Given the description of an element on the screen output the (x, y) to click on. 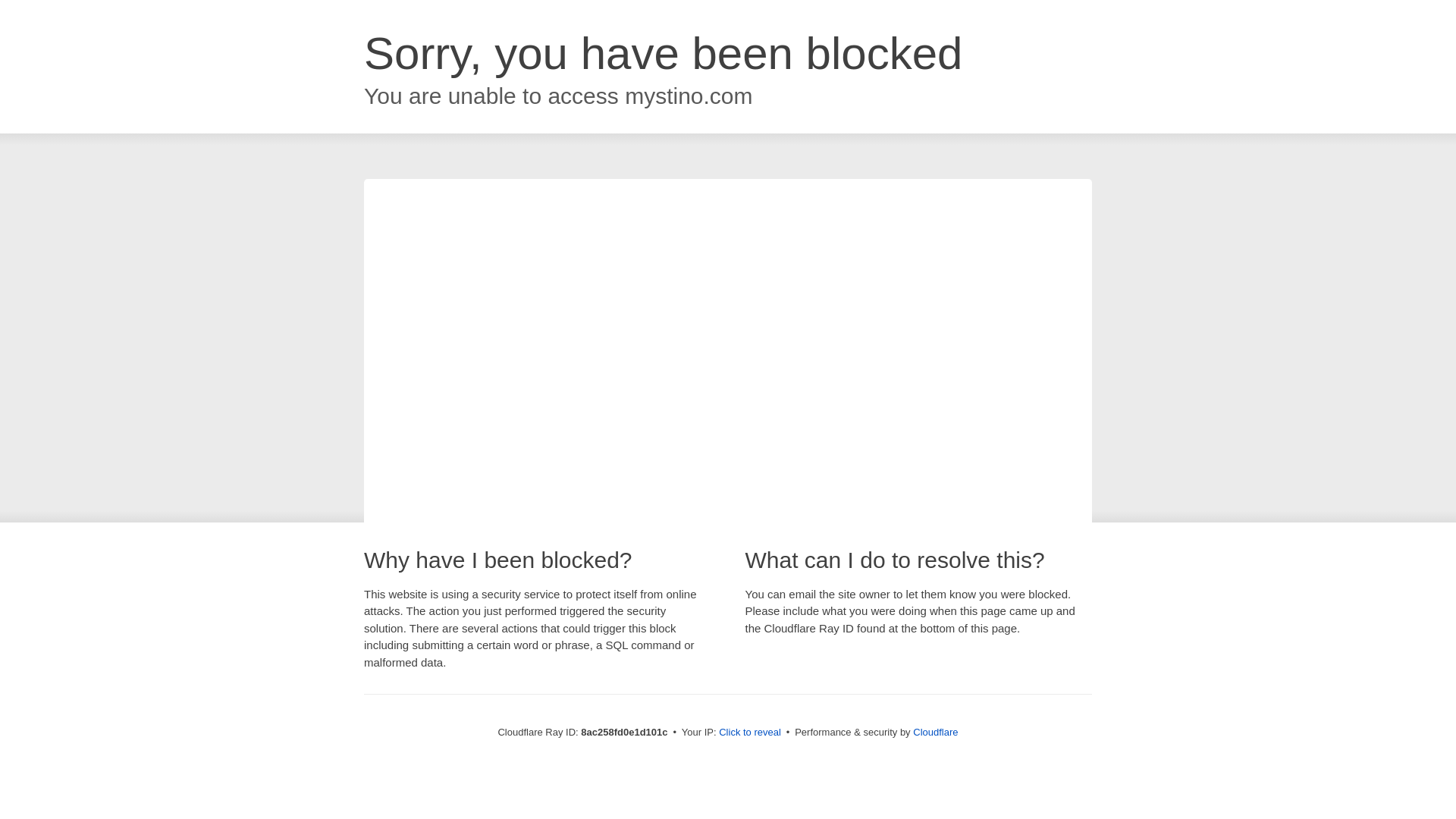
Click to reveal (749, 732)
Cloudflare (935, 731)
